Given the description of an element on the screen output the (x, y) to click on. 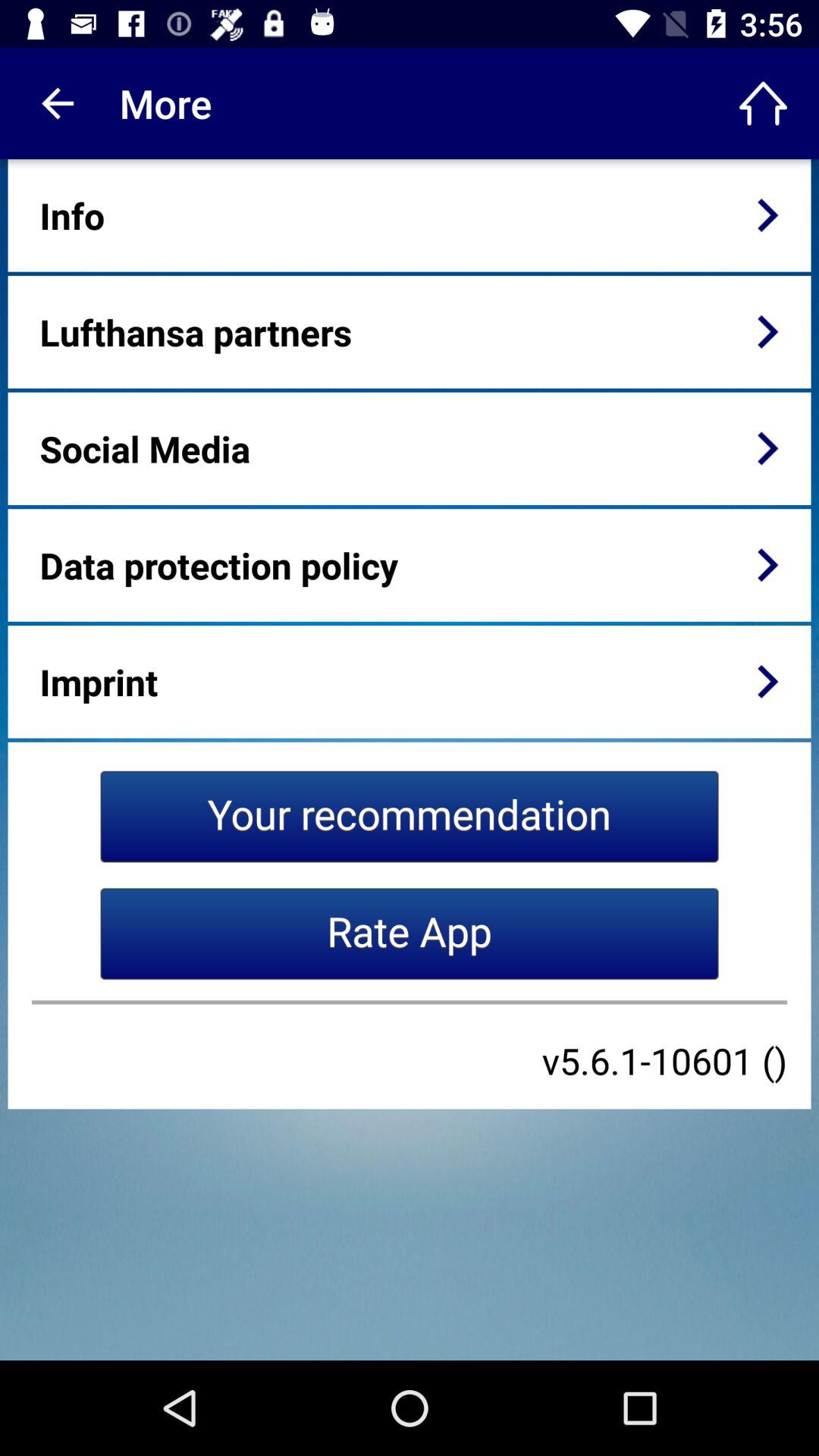
launch the item below the your recommendation icon (409, 933)
